Given the description of an element on the screen output the (x, y) to click on. 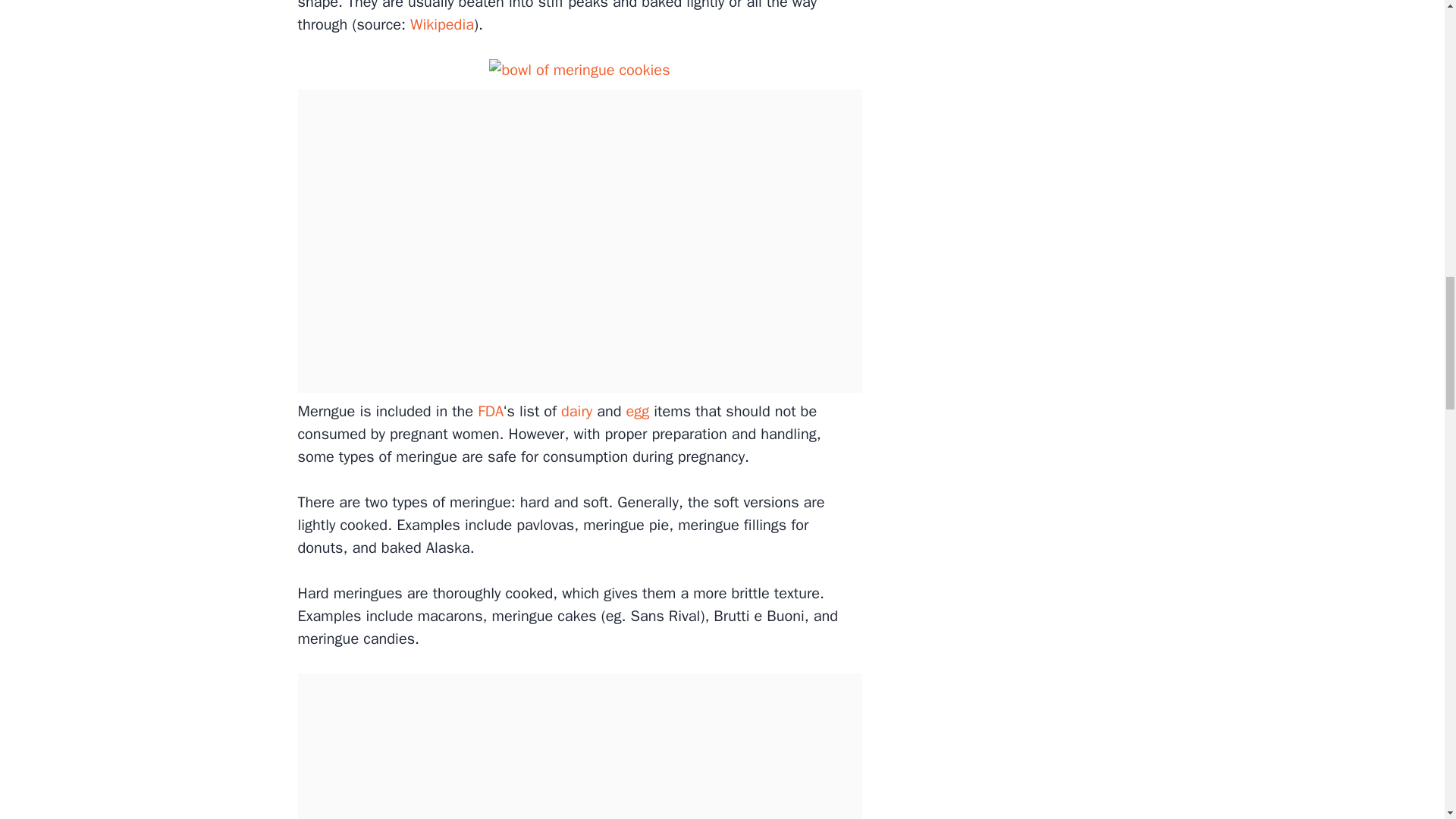
FDA (490, 411)
dairy (576, 411)
Wikipedia (442, 24)
egg (637, 411)
